Given the description of an element on the screen output the (x, y) to click on. 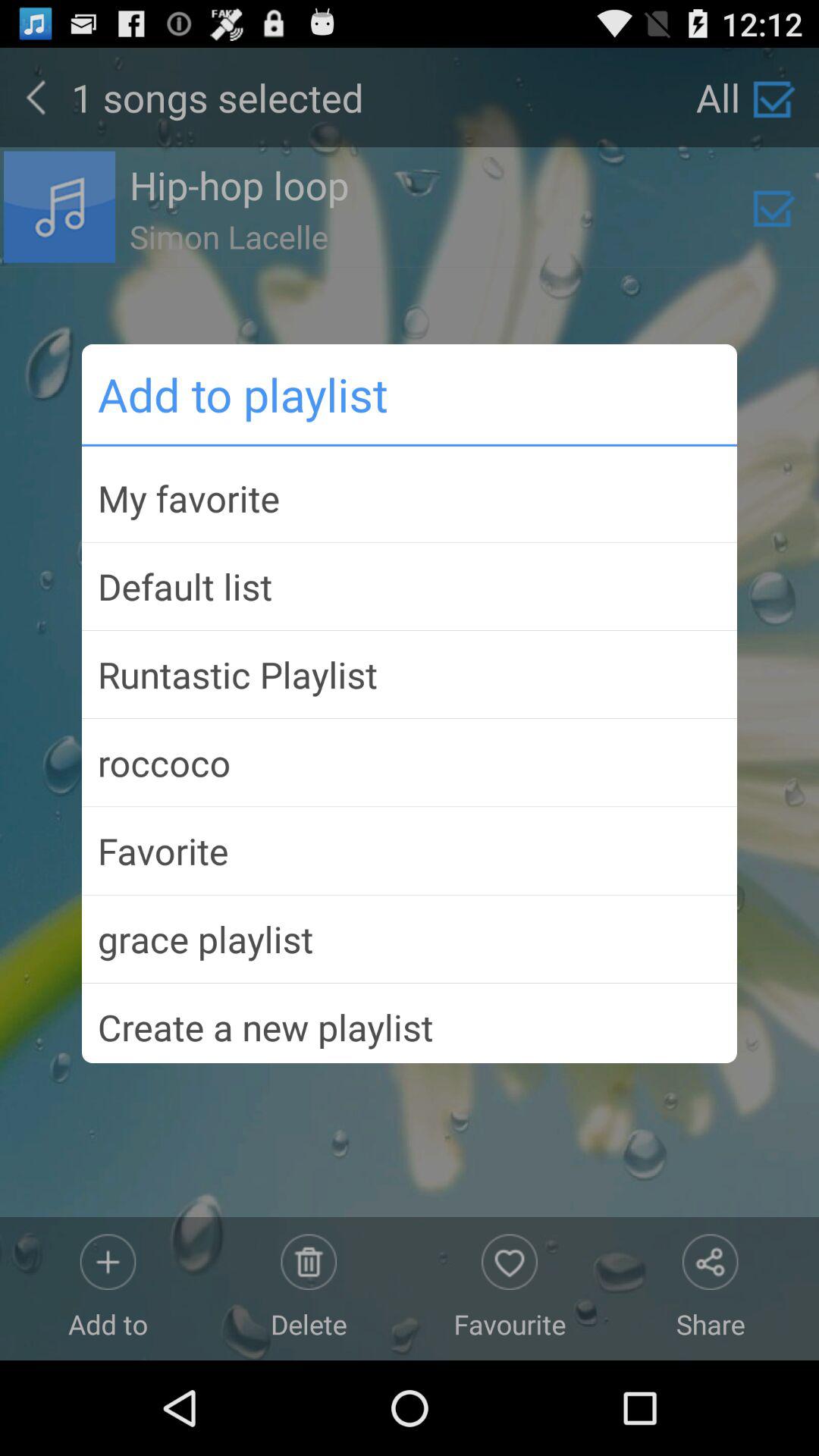
choose the icon above the favorite item (409, 762)
